Given the description of an element on the screen output the (x, y) to click on. 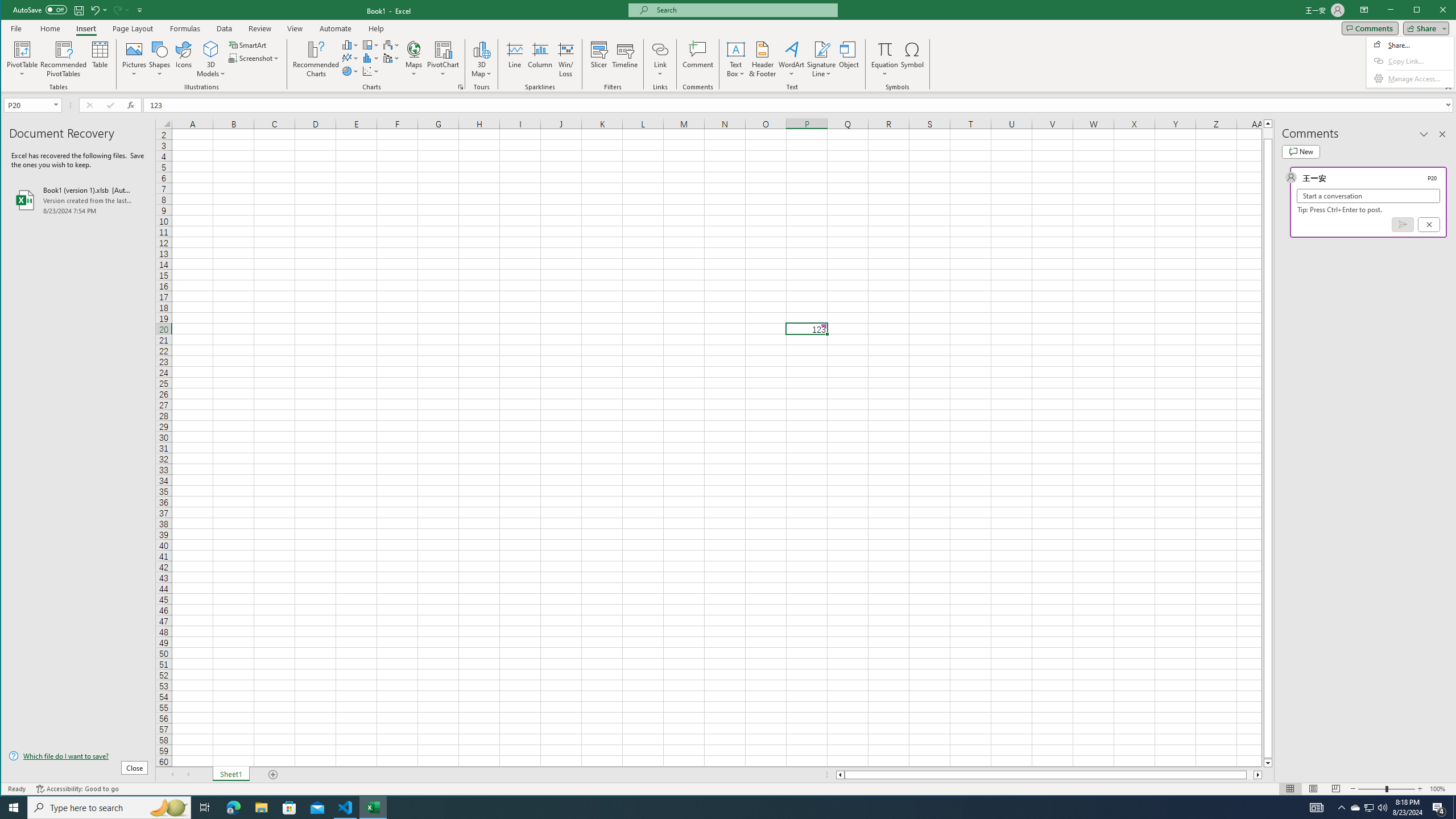
Insert Hierarchy Chart (371, 44)
Type here to search (108, 807)
PivotTable (22, 59)
Search highlights icon opens search home window (167, 807)
Object... (848, 59)
Excel - 1 running window (373, 807)
Header & Footer... (762, 59)
AutomationID: 4105 (1316, 807)
3D Models (211, 48)
3D Map (481, 59)
